Given the description of an element on the screen output the (x, y) to click on. 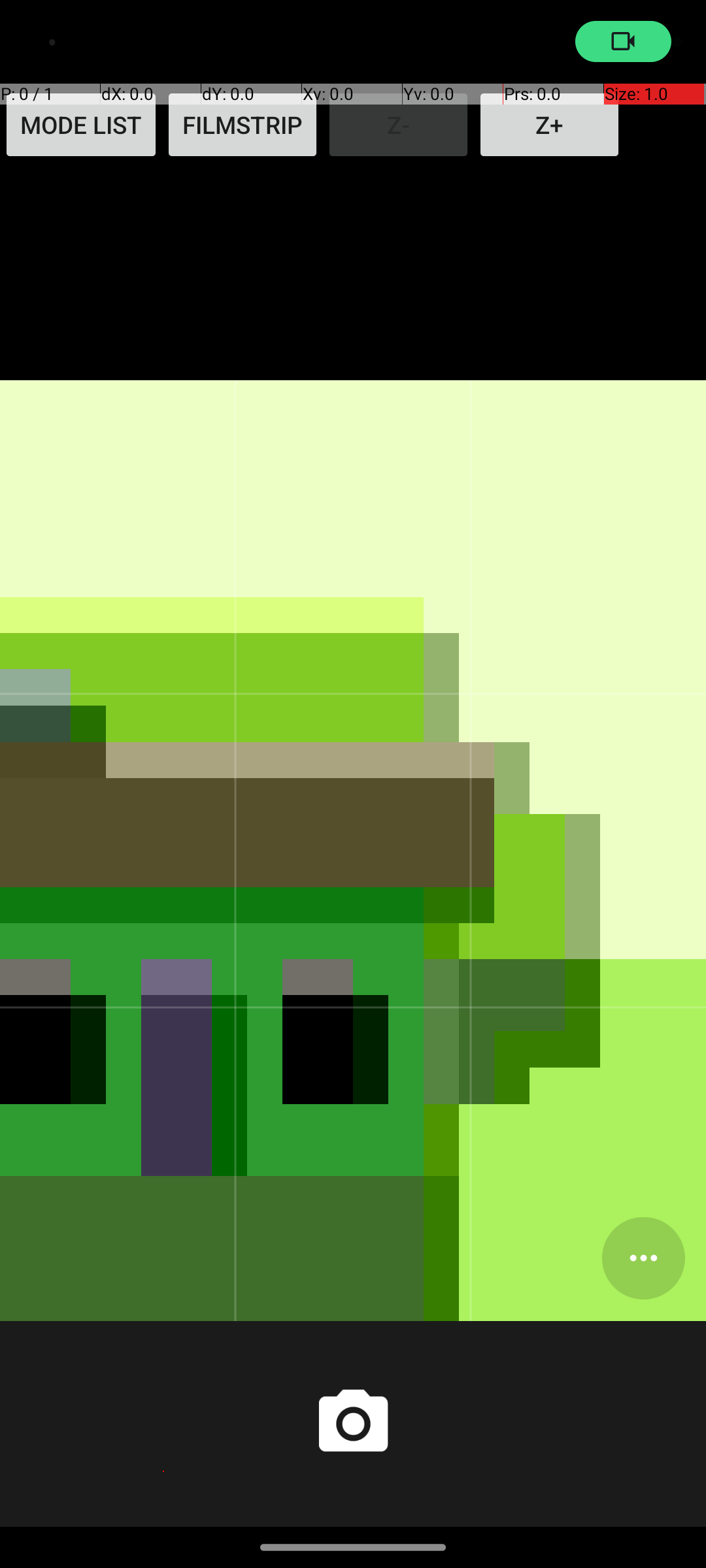
Applications are using your camera. Element type: android.widget.FrameLayout (623, 41)
